Given the description of an element on the screen output the (x, y) to click on. 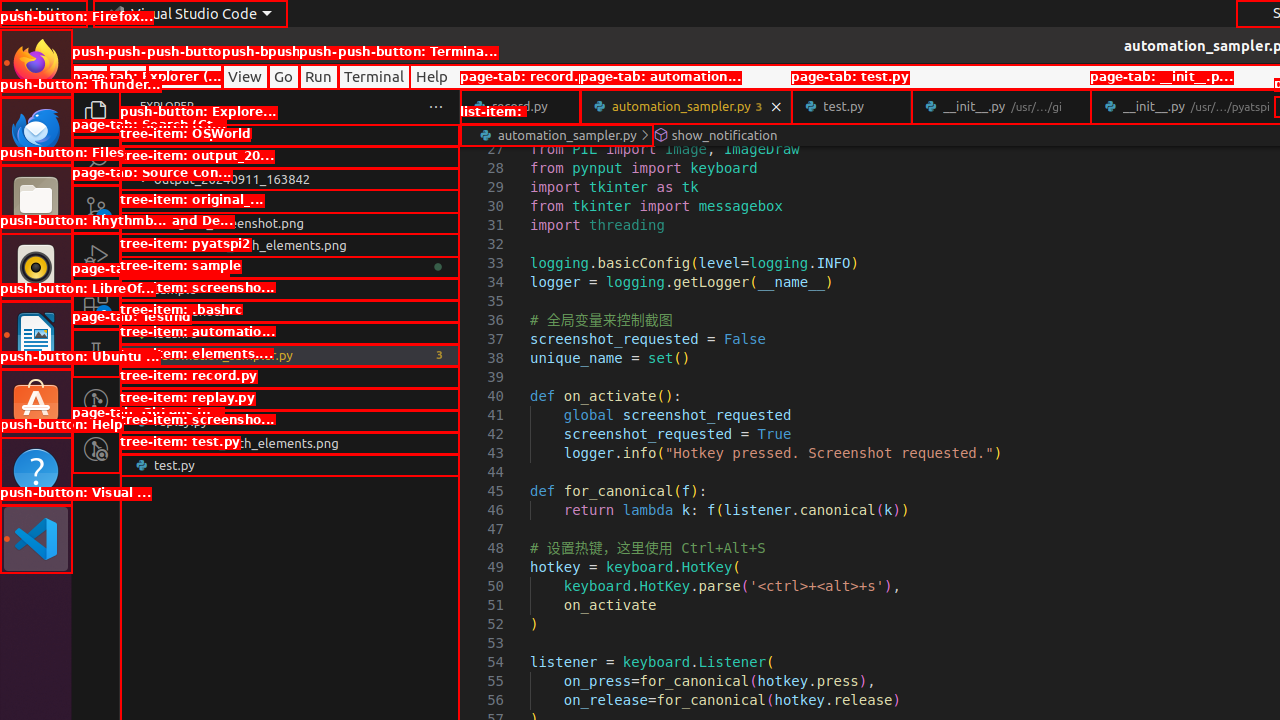
File Element type: push-button (90, 76)
test.py Element type: tree-item (289, 465)
Selection Element type: push-button (184, 76)
sample Element type: tree-item (289, 289)
